Given the description of an element on the screen output the (x, y) to click on. 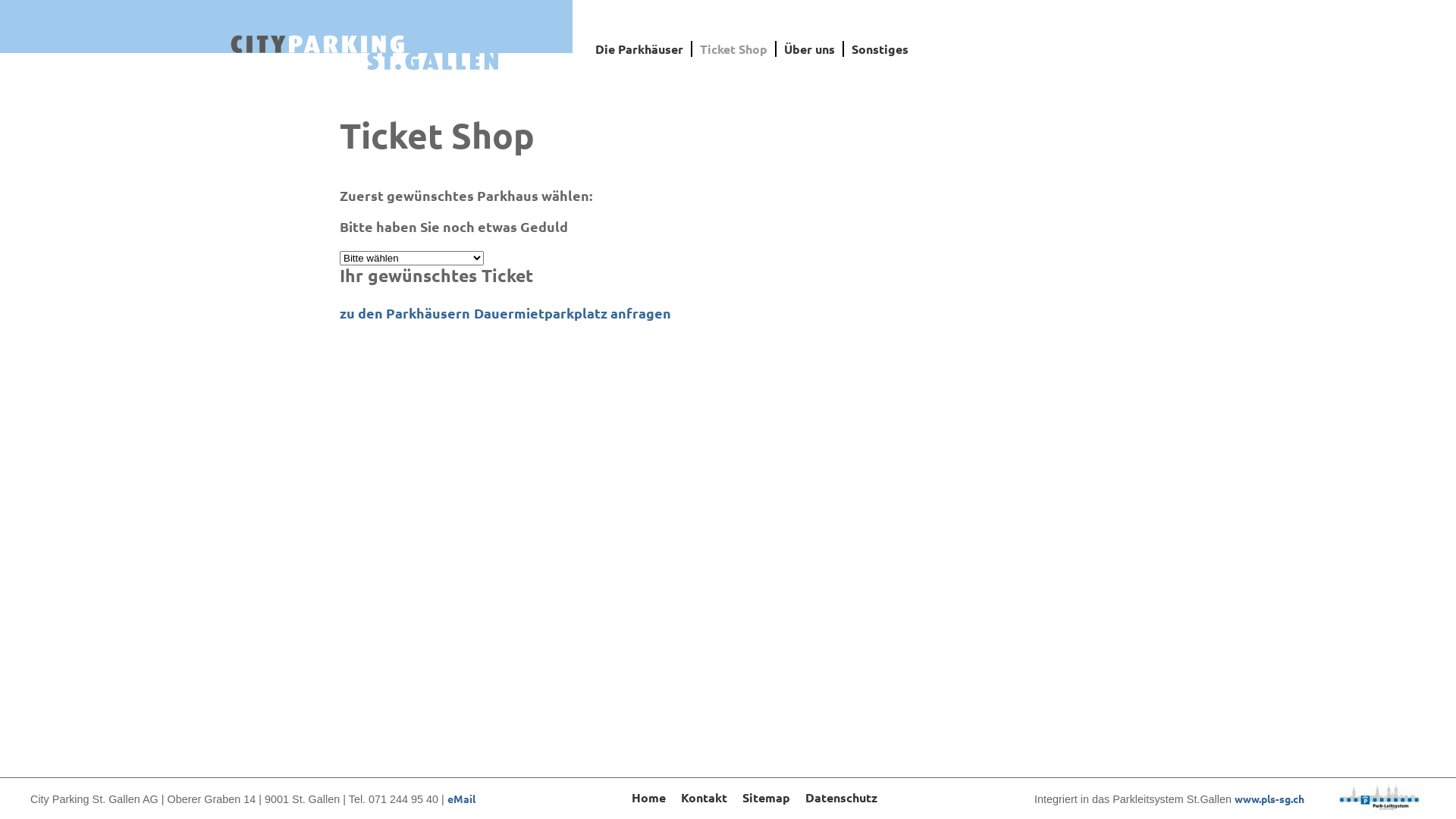
Sitemap Element type: text (766, 797)
eMail Element type: text (461, 798)
Home Element type: text (648, 797)
Kontakt Element type: text (703, 797)
www.pls-sg.ch Element type: text (1269, 798)
Ticket Shop Element type: text (734, 48)
Sonstiges Element type: text (880, 48)
Home von Cityparking laden Element type: hover (363, 52)
Dauermietparkplatz anfragen Element type: text (572, 312)
Datenschutz Element type: text (841, 797)
